Given the description of an element on the screen output the (x, y) to click on. 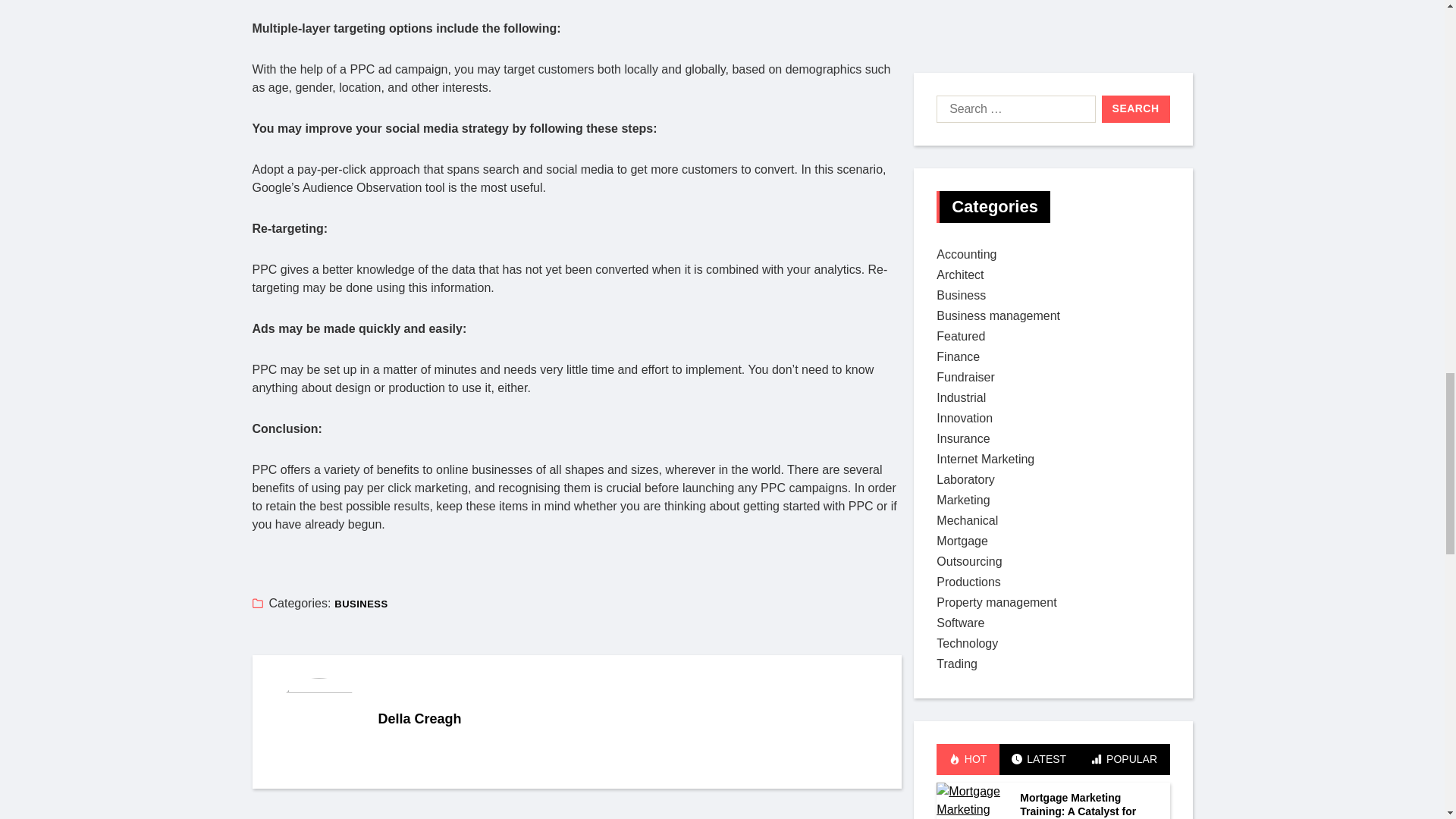
Della Creagh (628, 719)
Della Creagh (628, 719)
Della Creagh (318, 721)
BUSINESS (360, 603)
